Given the description of an element on the screen output the (x, y) to click on. 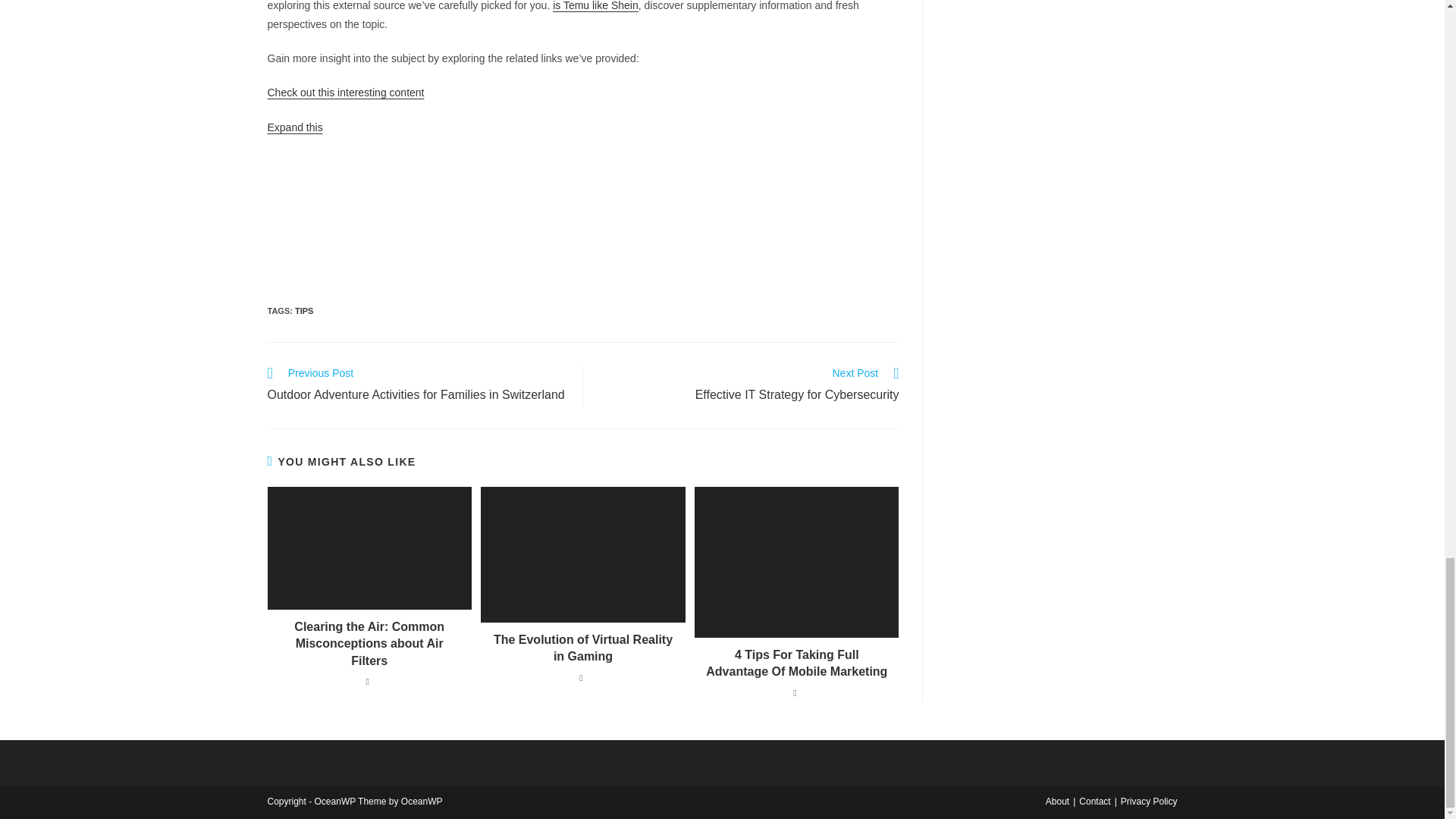
The Evolution of Virtual Reality in Gaming (582, 648)
Privacy Policy (748, 385)
is Temu like Shein (1149, 801)
Clearing the Air: Common Misconceptions about Air Filters (596, 5)
TIPS (368, 644)
4 Tips For Taking Full Advantage Of Mobile Marketing (304, 310)
Expand this (796, 663)
Contact (293, 127)
